Given the description of an element on the screen output the (x, y) to click on. 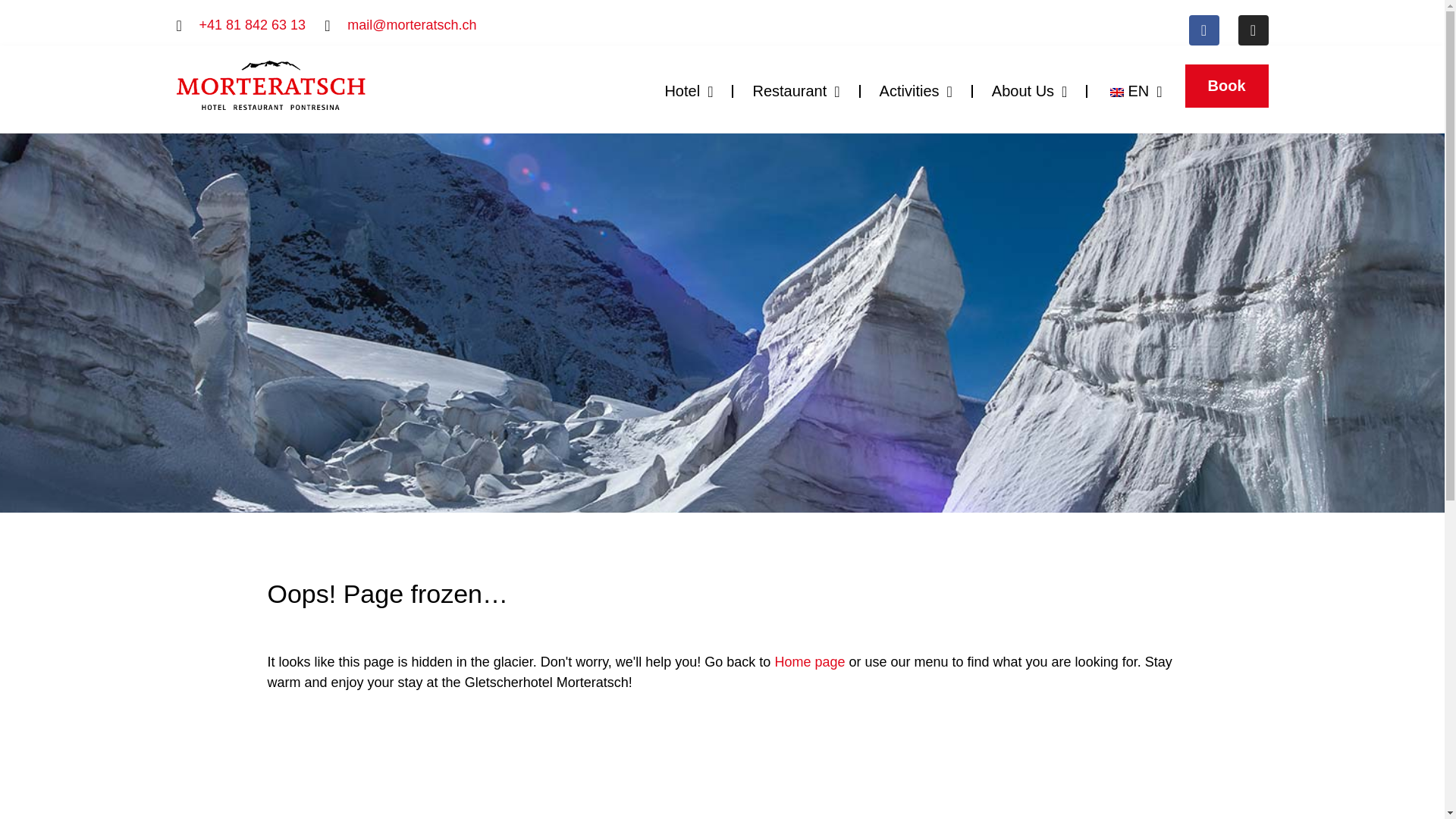
Hotel (688, 90)
Restaurant (796, 90)
English (1116, 92)
Activities (915, 90)
